Given the description of an element on the screen output the (x, y) to click on. 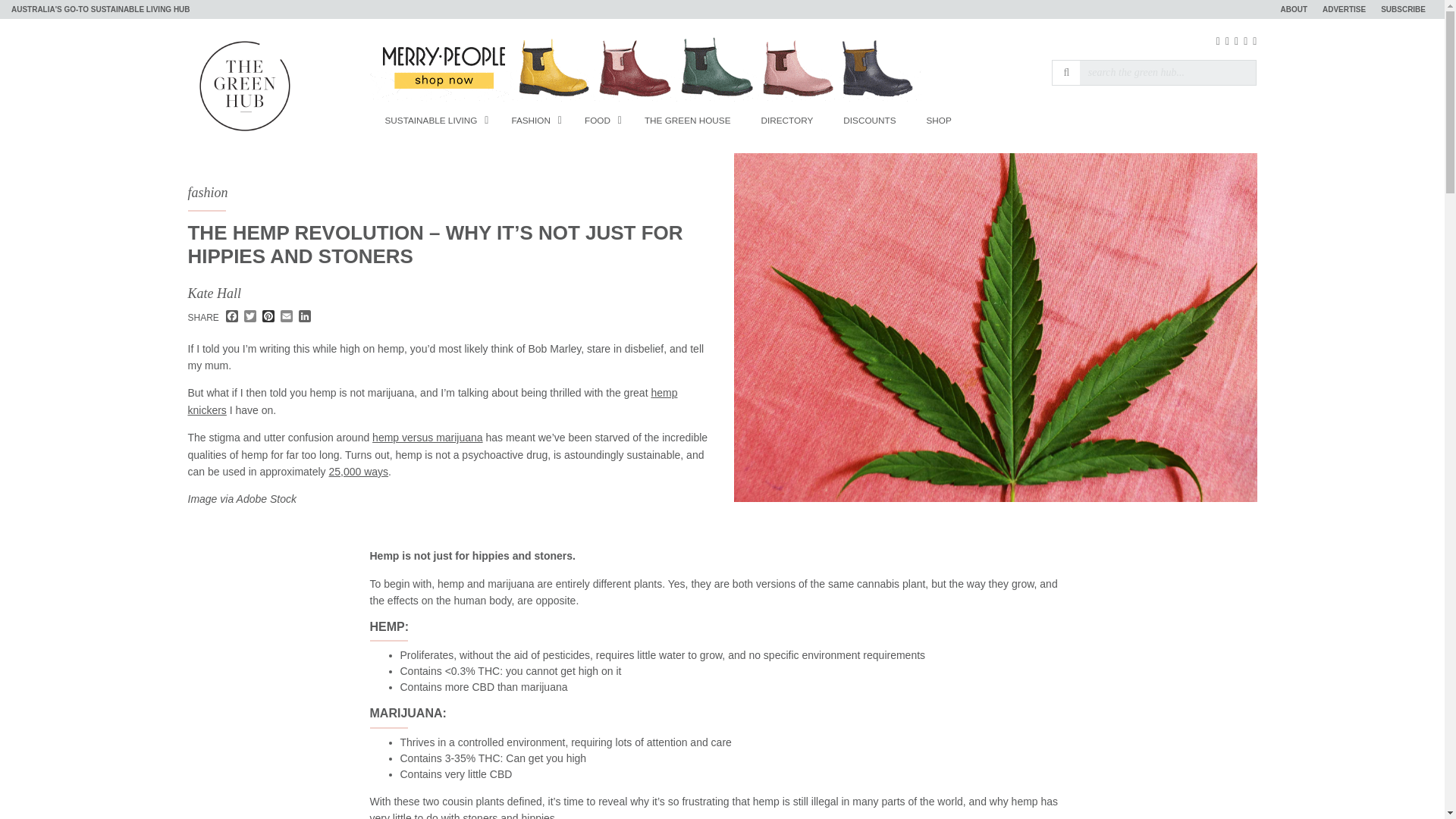
About (1294, 9)
ADVERTISE (1343, 9)
Advertise (1343, 9)
SUBSCRIBE (1402, 9)
FASHION (532, 119)
FOOD (598, 119)
Twitter (250, 317)
LinkedIn (304, 317)
ABOUT (1294, 9)
SUSTAINABLE LIVING (432, 119)
Subscribe (1402, 9)
The Green Hub (244, 84)
Search for: (1167, 72)
Pinterest (268, 317)
